Given the description of an element on the screen output the (x, y) to click on. 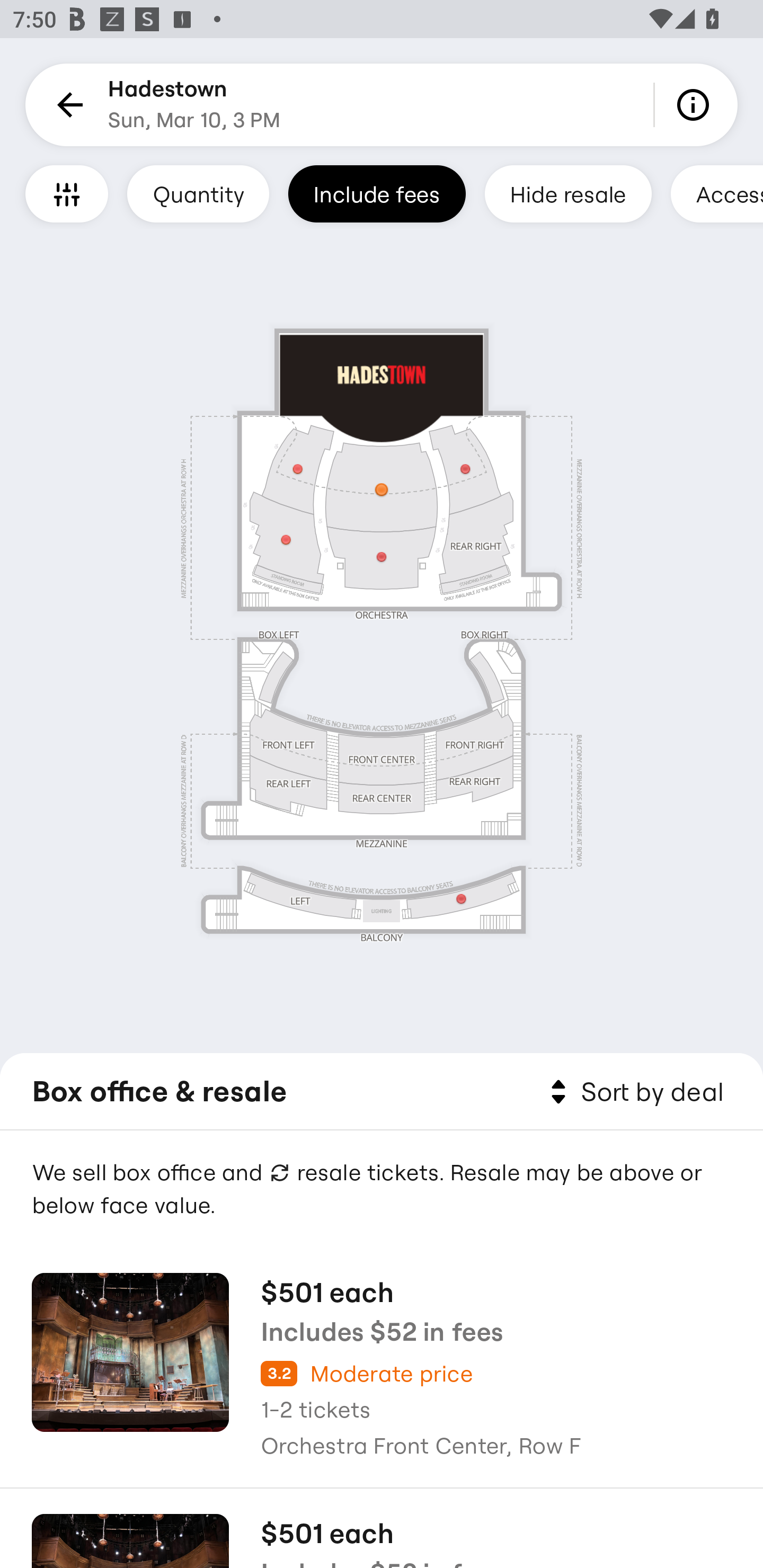
Back Hadestown Sun, Mar 10, 3 PM Info (381, 104)
Back (66, 104)
Hadestown Sun, Mar 10, 3 PM (194, 104)
Info (695, 104)
Filters and Accessible Seating (66, 193)
Quantity (198, 193)
Include fees (376, 193)
Hide resale (567, 193)
Access code (716, 193)
Sort by deal (633, 1091)
